Given the description of an element on the screen output the (x, y) to click on. 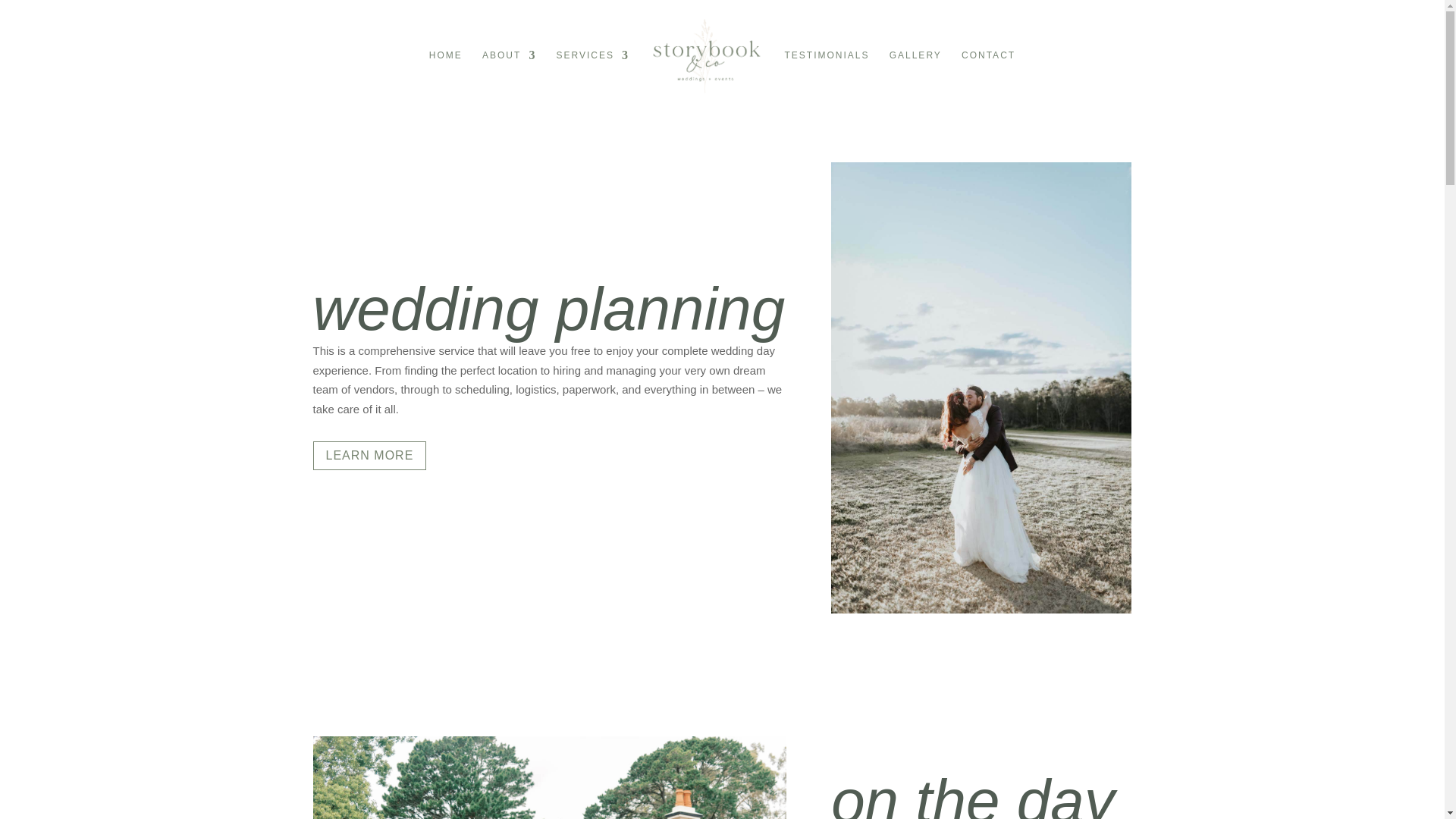
ABOUT (508, 74)
CONTACT (987, 74)
LEARN MORE (369, 455)
SERVICES (592, 74)
TESTIMONIALS (826, 74)
GALLERY (915, 74)
